Given the description of an element on the screen output the (x, y) to click on. 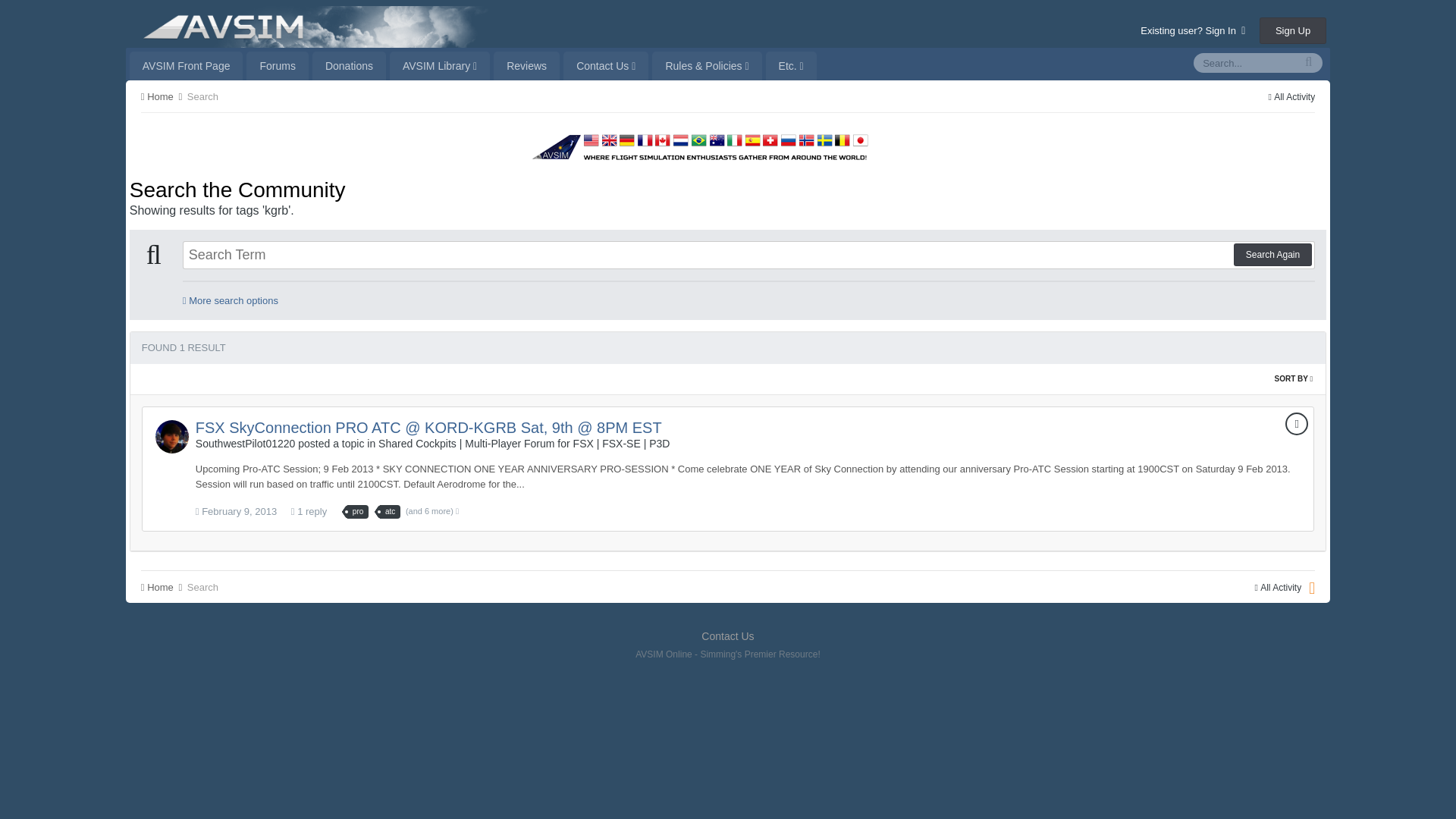
Forums (276, 65)
AVSIM Front Page (186, 65)
Go to SouthwestPilot01220's profile (245, 443)
All Activity (1291, 96)
Reviews (526, 65)
AVSIM Library (439, 65)
Topic (1296, 423)
Go to SouthwestPilot01220's profile (172, 436)
Contact Us (605, 65)
Donations (349, 65)
Find other content tagged with 'atc' (390, 511)
Sign Up (1292, 30)
Home (162, 96)
Find other content tagged with 'pro' (357, 511)
Existing user? Sign In   (1192, 30)
